Given the description of an element on the screen output the (x, y) to click on. 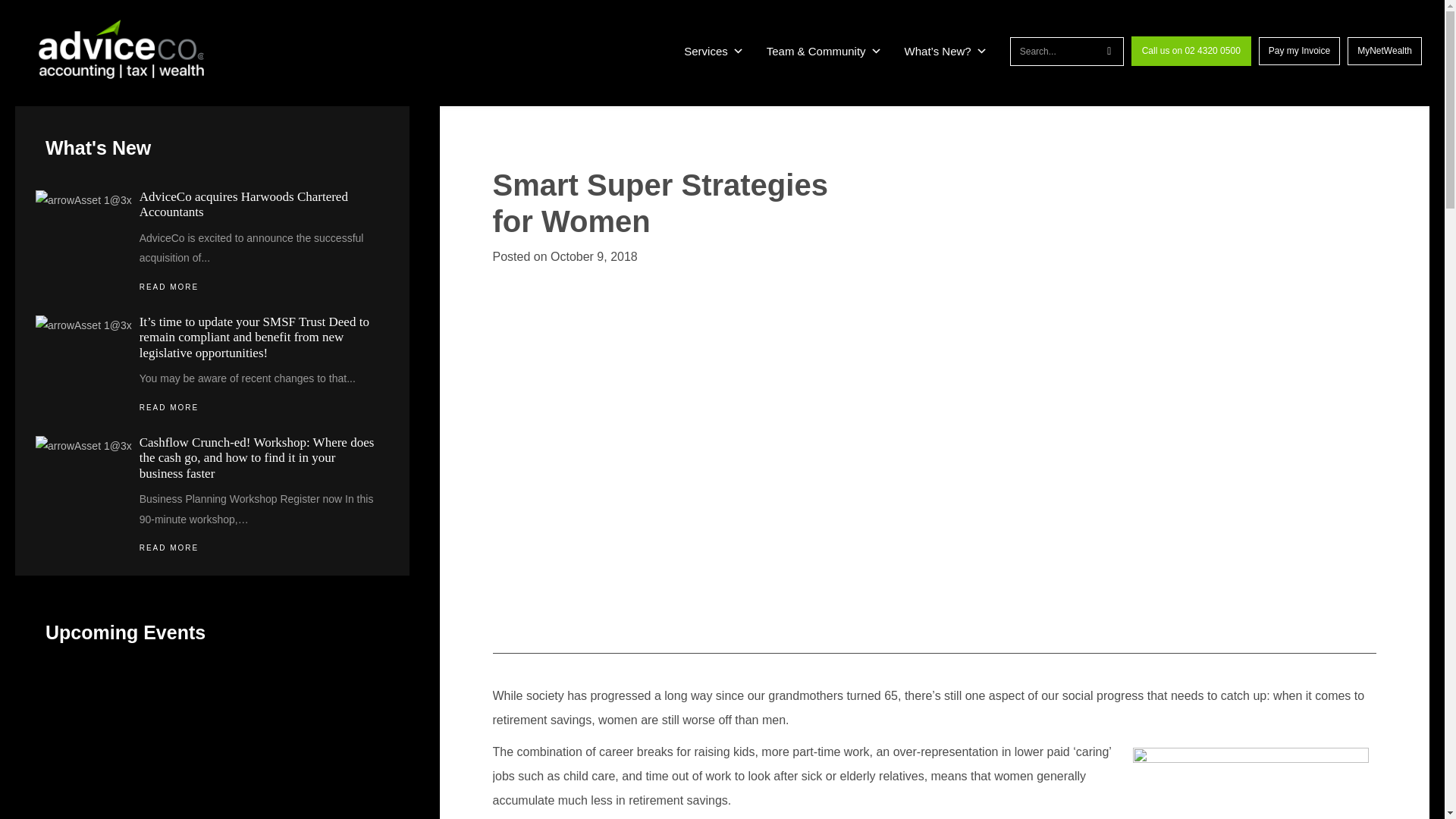
Services (714, 51)
Call us on 02 4320 0500 (1190, 51)
AdviceCo acquires Harwoods Chartered Accountants (243, 204)
Pay my Invoice (1299, 50)
MyNetWealth (1385, 50)
Search (1053, 51)
